Given the description of an element on the screen output the (x, y) to click on. 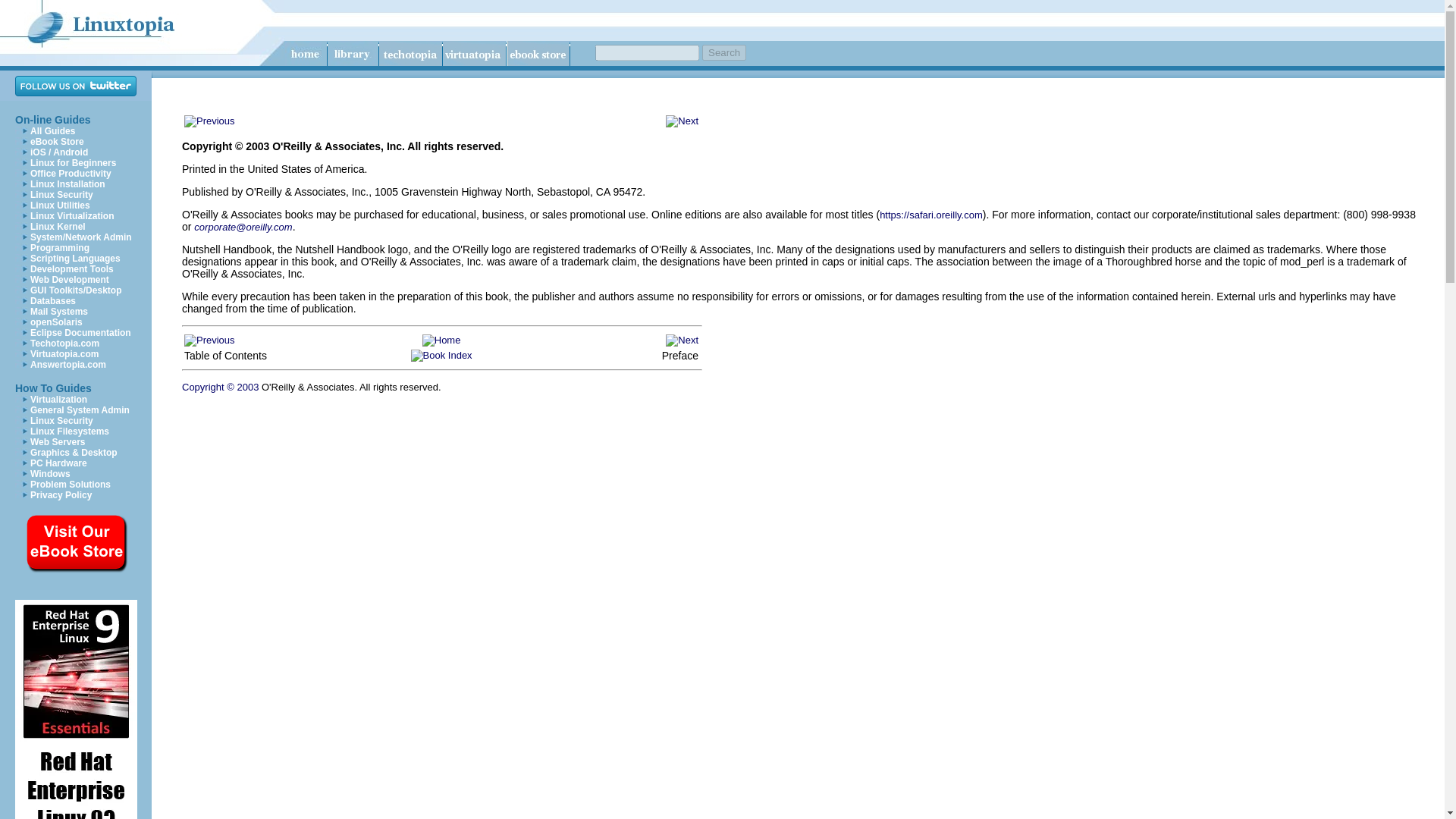
General System Admin (79, 409)
Programming (59, 247)
Linux Security (61, 194)
Search (723, 52)
Development Tools (71, 268)
Databases (52, 300)
PC Hardware (58, 462)
Office Productivity (71, 173)
Techotopia.com (64, 343)
Virtualization (58, 398)
Linux for Beginners (73, 163)
Scripting Languages (75, 258)
Linux Virtualization (71, 215)
Web Development (69, 279)
Virtuatopia.com (64, 353)
